Given the description of an element on the screen output the (x, y) to click on. 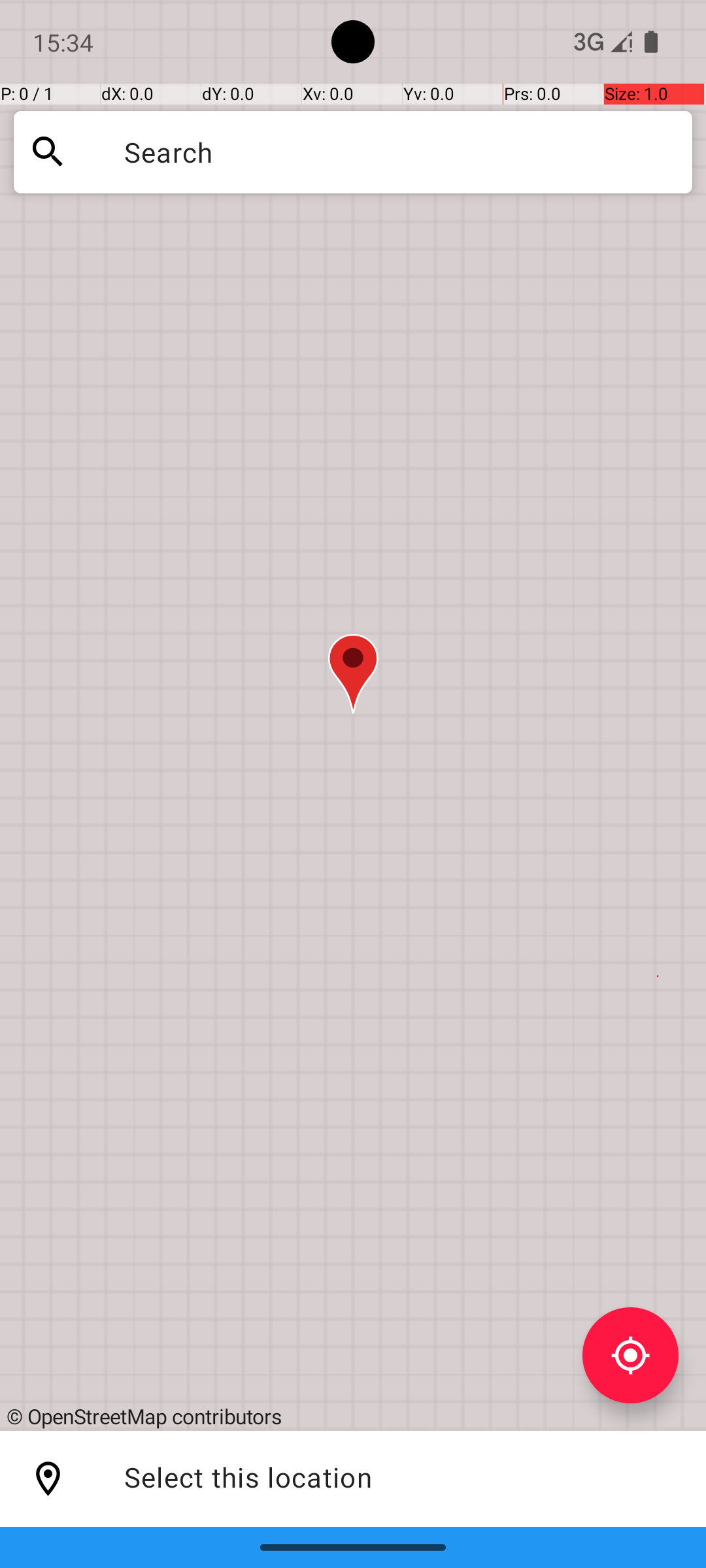
Select this location Element type: android.widget.ImageView (47, 1478)
